Given the description of an element on the screen output the (x, y) to click on. 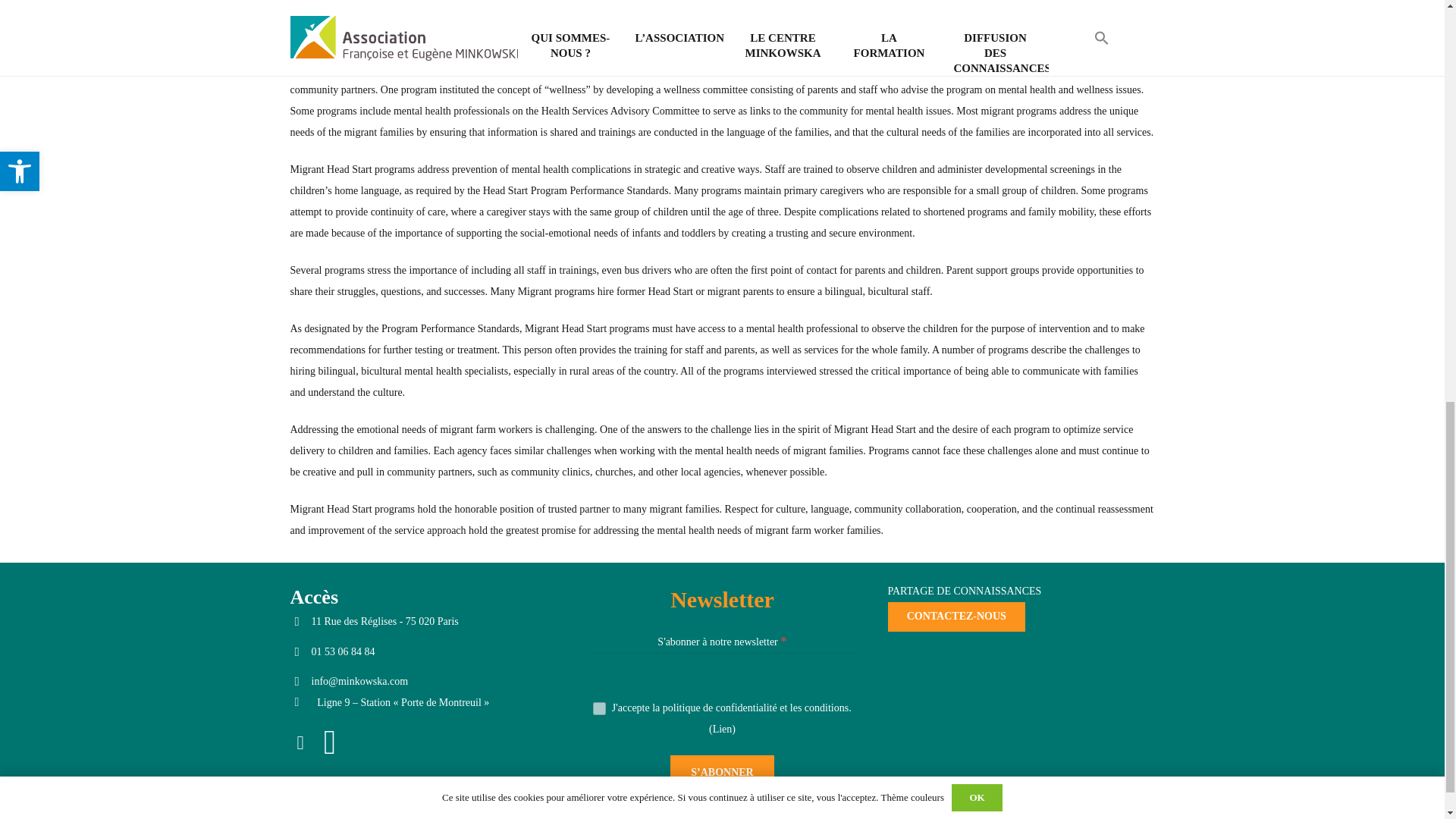
PARTAGE DE CONNAISSANCES (963, 591)
1 (598, 707)
Lien (722, 728)
